Given the description of an element on the screen output the (x, y) to click on. 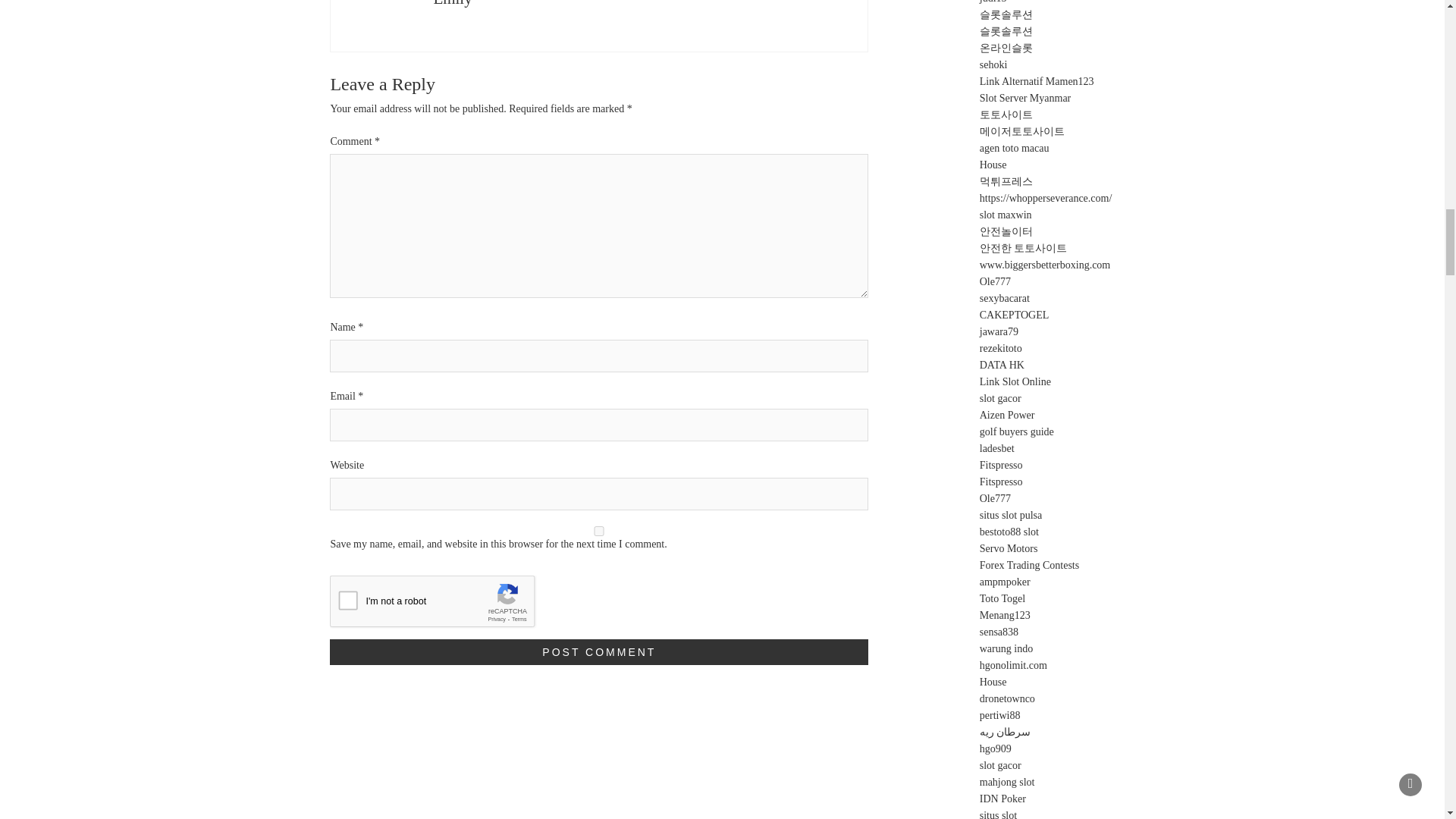
ladesbet (996, 448)
Post Comment (598, 652)
Emily (451, 3)
Post Comment (598, 652)
yes (598, 531)
reCAPTCHA (445, 604)
